Given the description of an element on the screen output the (x, y) to click on. 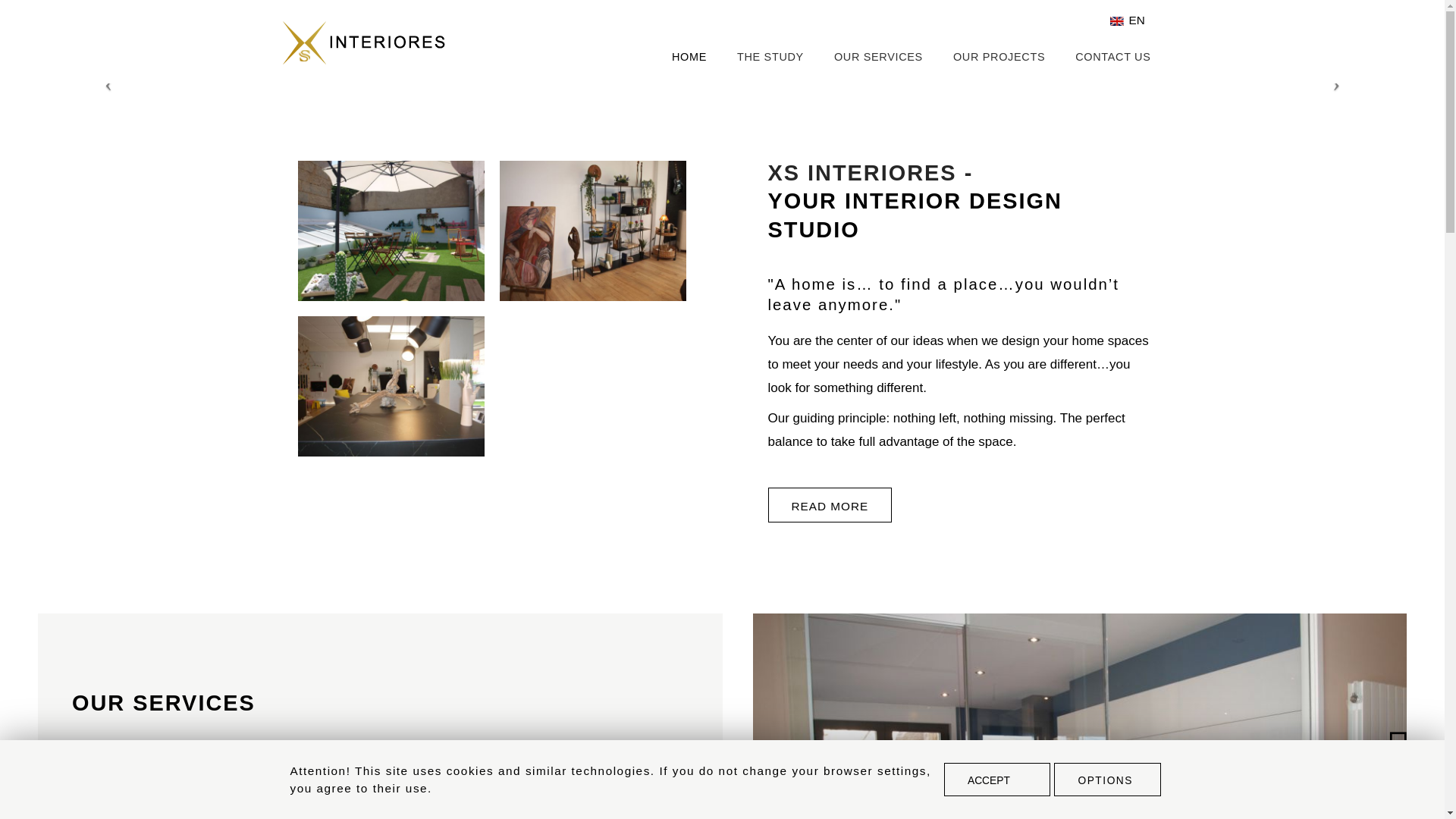
OUR SERVICES (877, 56)
OUR SERVICES (163, 702)
Read More (829, 504)
HOME (695, 56)
EN (1128, 20)
Our services (163, 702)
Contact us (1112, 56)
ACCEPT (996, 779)
THE STUDY (770, 56)
Xs interiores (376, 42)
